Given the description of an element on the screen output the (x, y) to click on. 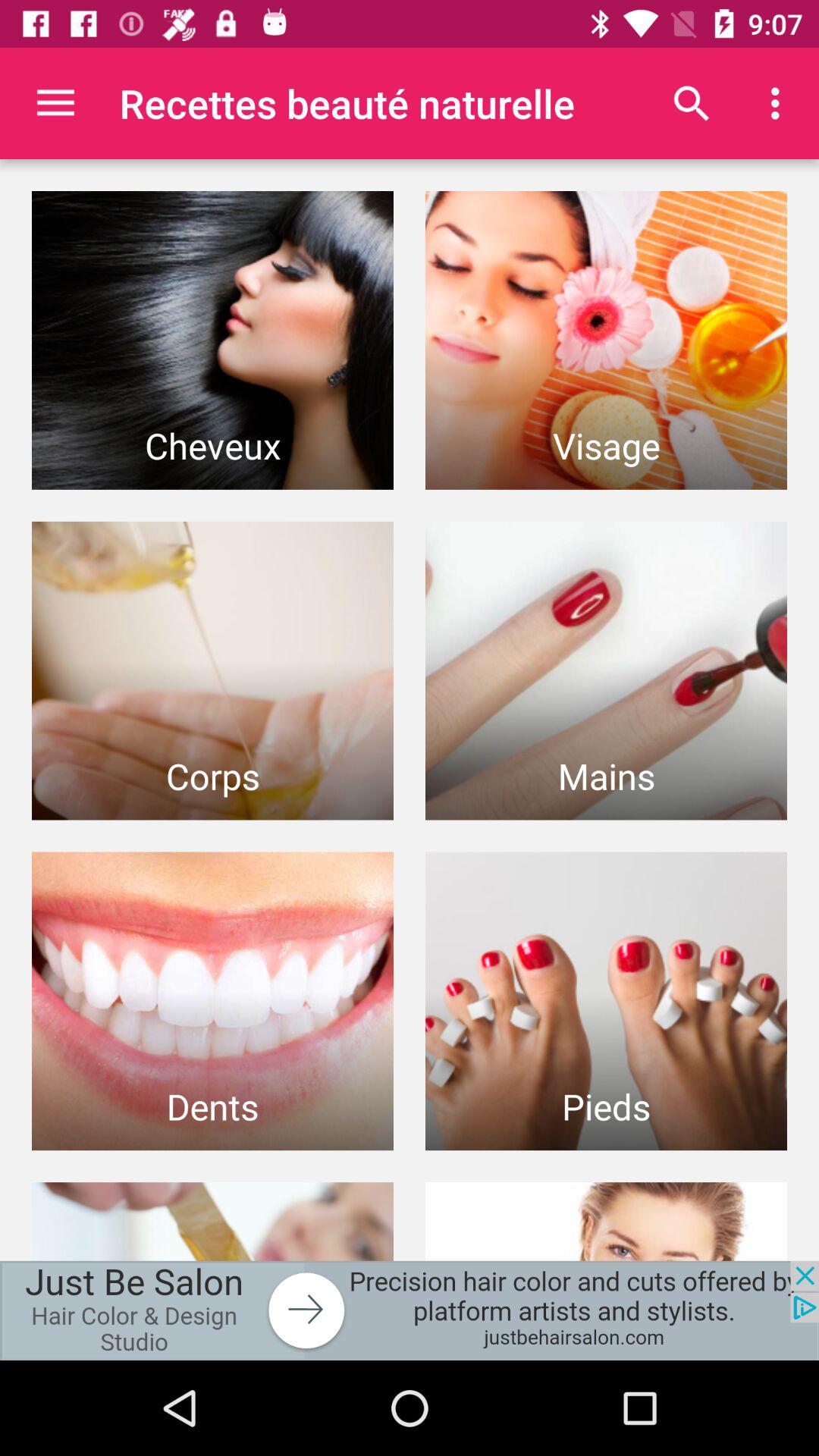
close the add (409, 1310)
